Given the description of an element on the screen output the (x, y) to click on. 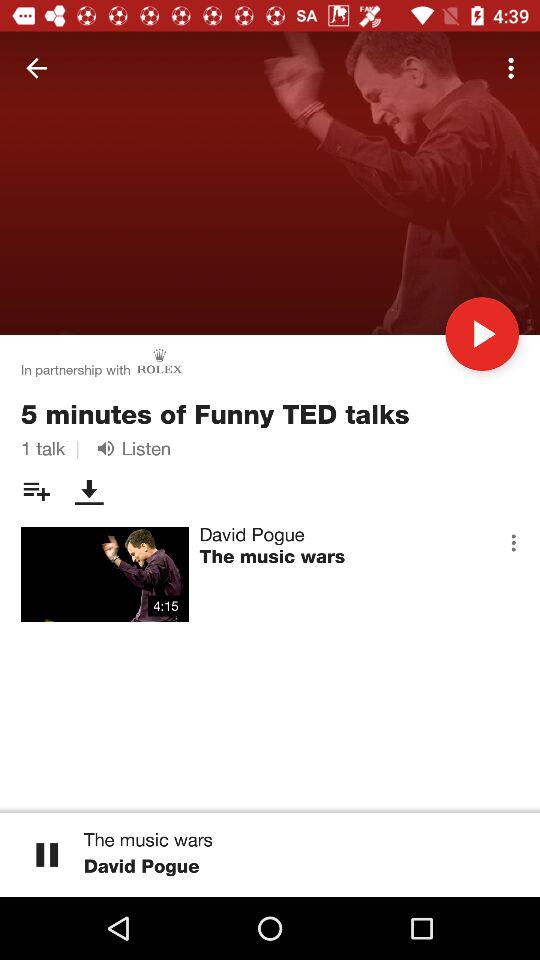
scroll until listen item (130, 448)
